Given the description of an element on the screen output the (x, y) to click on. 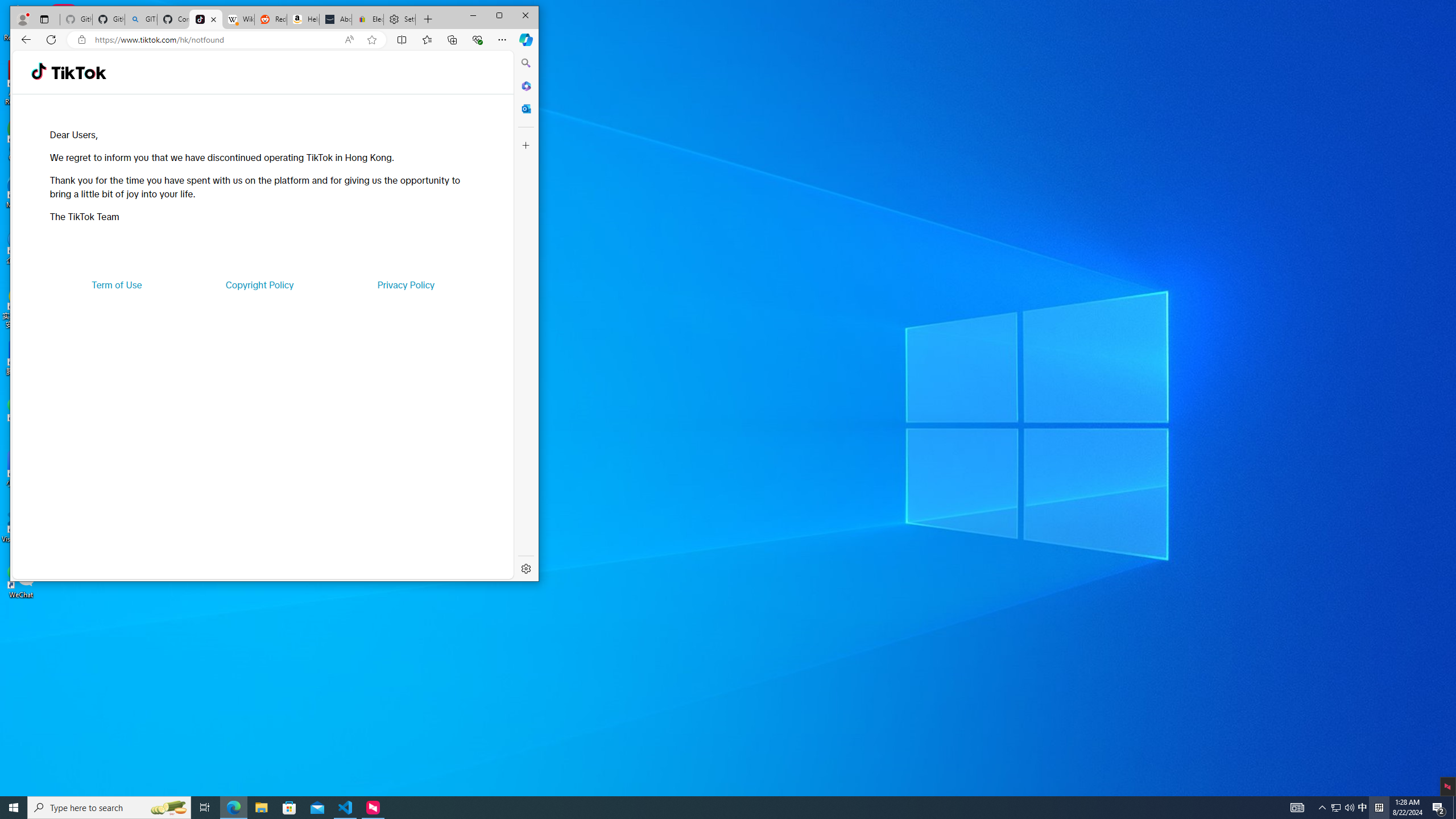
Type here to search (108, 807)
TikTok (205, 19)
Tray Input Indicator - Chinese (Simplified, China) (1378, 807)
Action Center, 2 new notifications (1439, 807)
Search highlights icon opens search home window (167, 807)
Start (13, 807)
Microsoft Edge - 1 running window (233, 807)
